Given the description of an element on the screen output the (x, y) to click on. 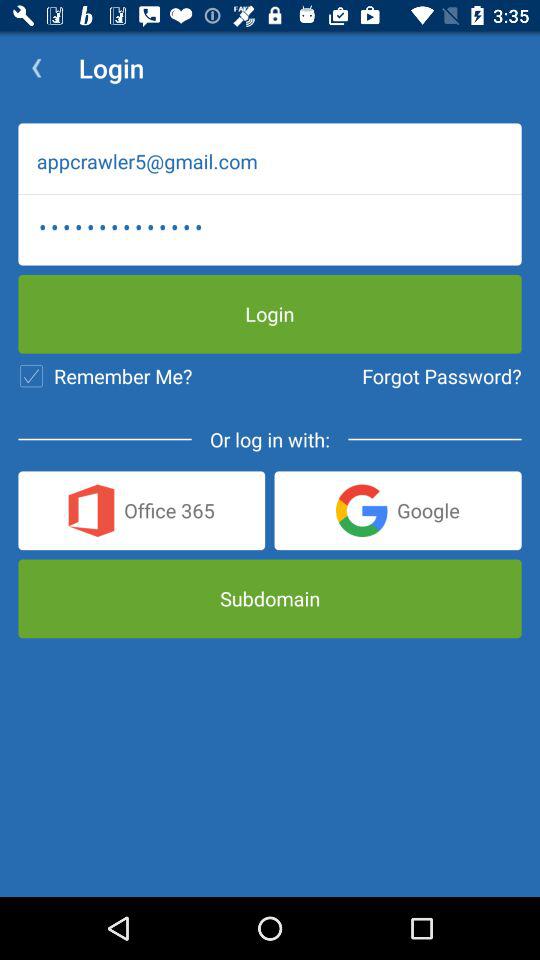
launch the forgot password? item (441, 376)
